Given the description of an element on the screen output the (x, y) to click on. 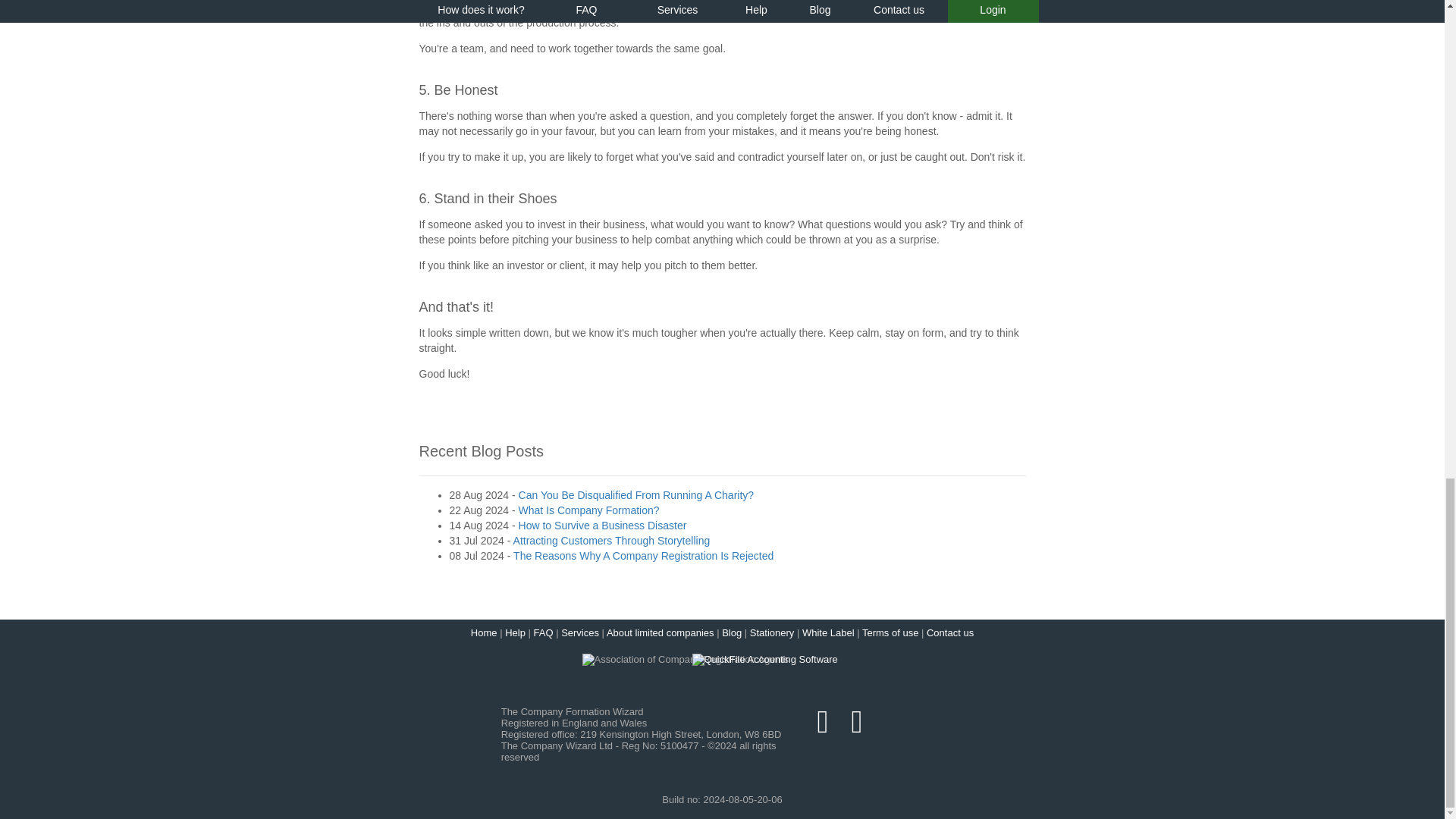
Contact us (950, 632)
Terms of use (889, 632)
Blog (731, 632)
Home (483, 632)
Services (579, 632)
About limited companies (660, 632)
Attracting Customers Through Storytelling (611, 540)
How to Survive a Business Disaster (602, 525)
Stationery (771, 632)
FAQ (543, 632)
